Given the description of an element on the screen output the (x, y) to click on. 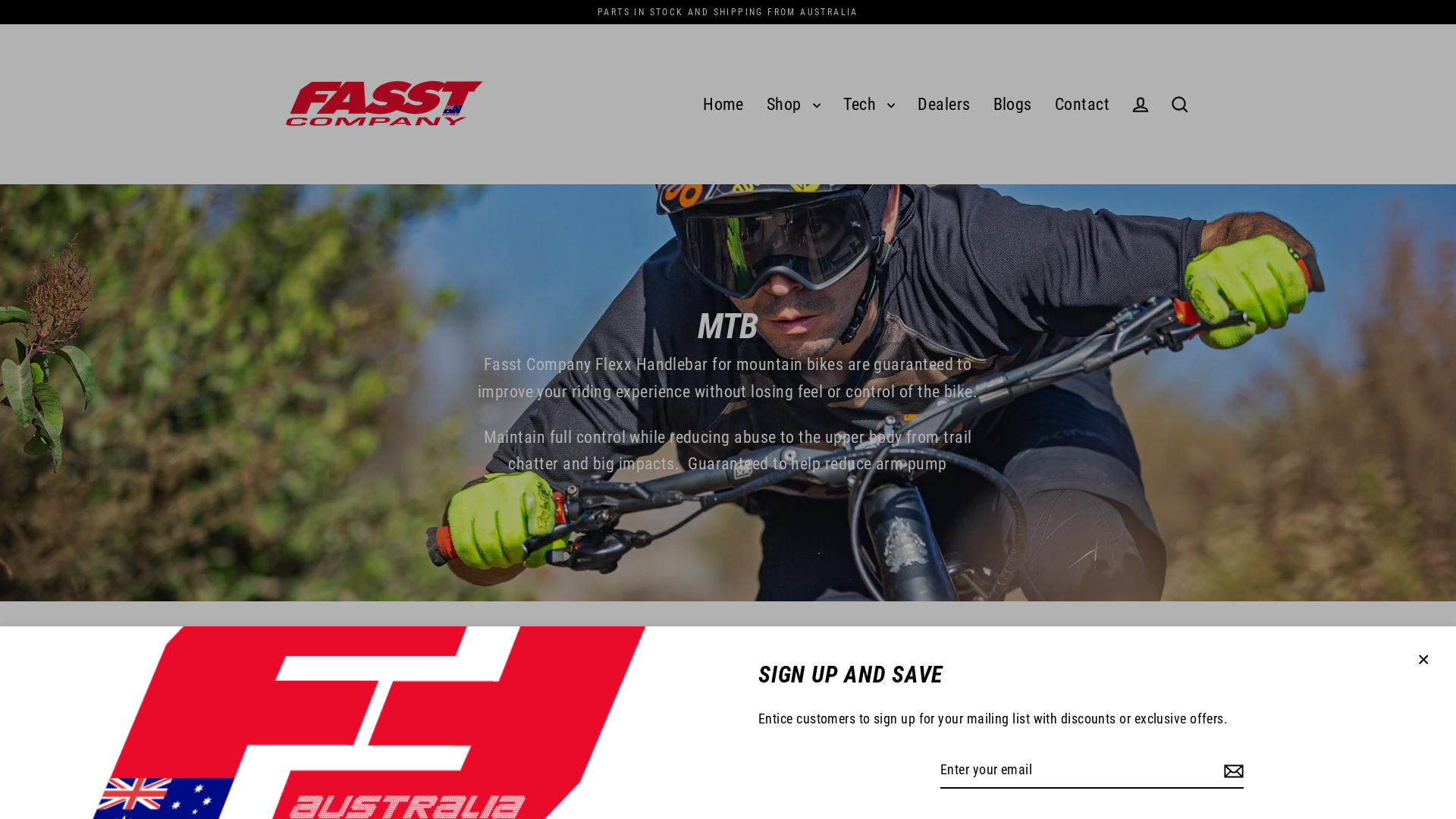
Contact Element type: text (1081, 104)
Search Element type: text (1179, 103)
Blogs Element type: text (1012, 104)
icon-X
Close (esc) Element type: text (1422, 659)
Log in Element type: text (1140, 103)
Dealers Element type: text (943, 104)
Subscribe Element type: hover (1231, 770)
Home Element type: text (723, 104)
